Given the description of an element on the screen output the (x, y) to click on. 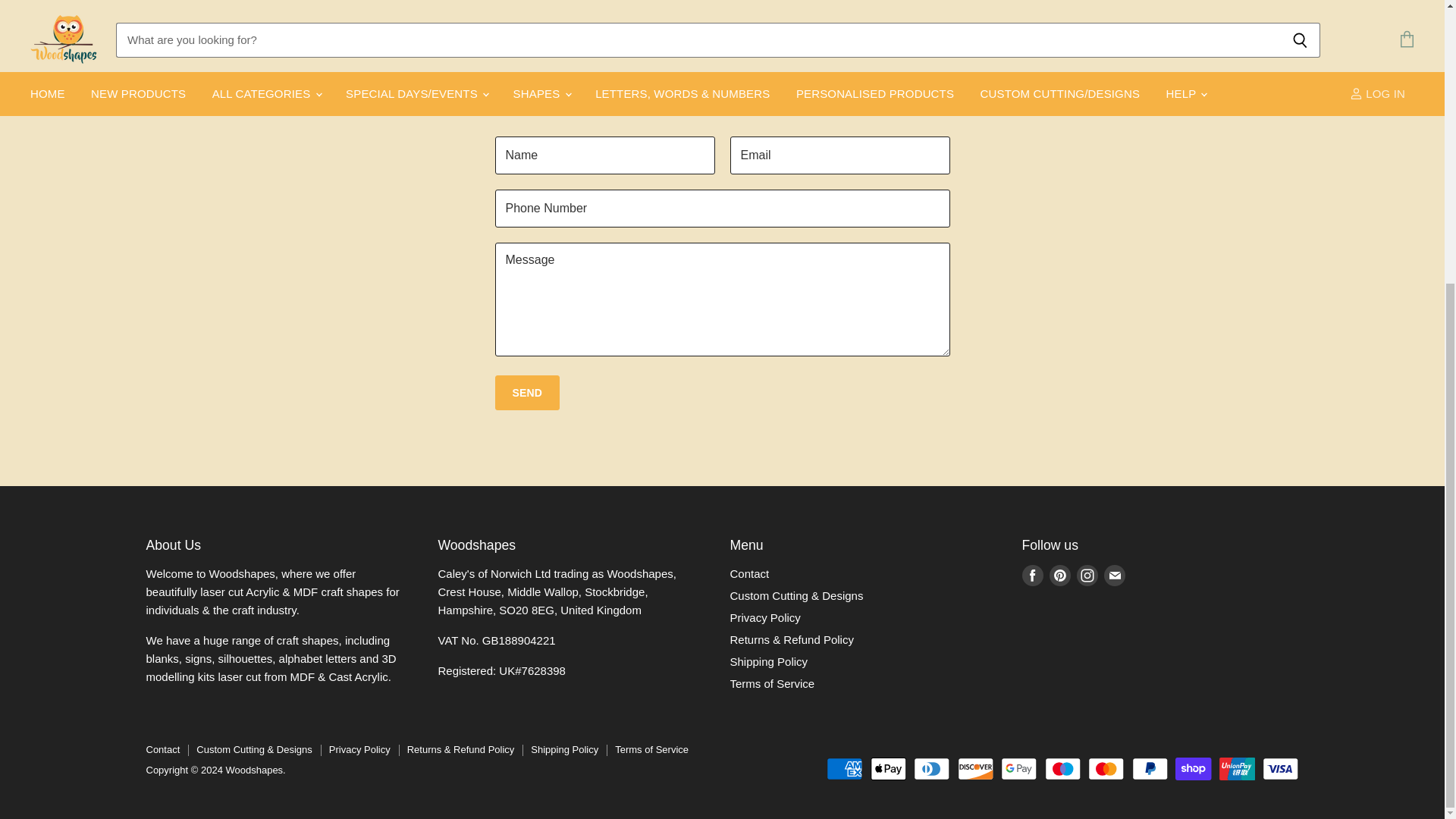
Pinterest (1060, 574)
Facebook (1032, 574)
E-mail (1114, 574)
Instagram (1087, 574)
